Given the description of an element on the screen output the (x, y) to click on. 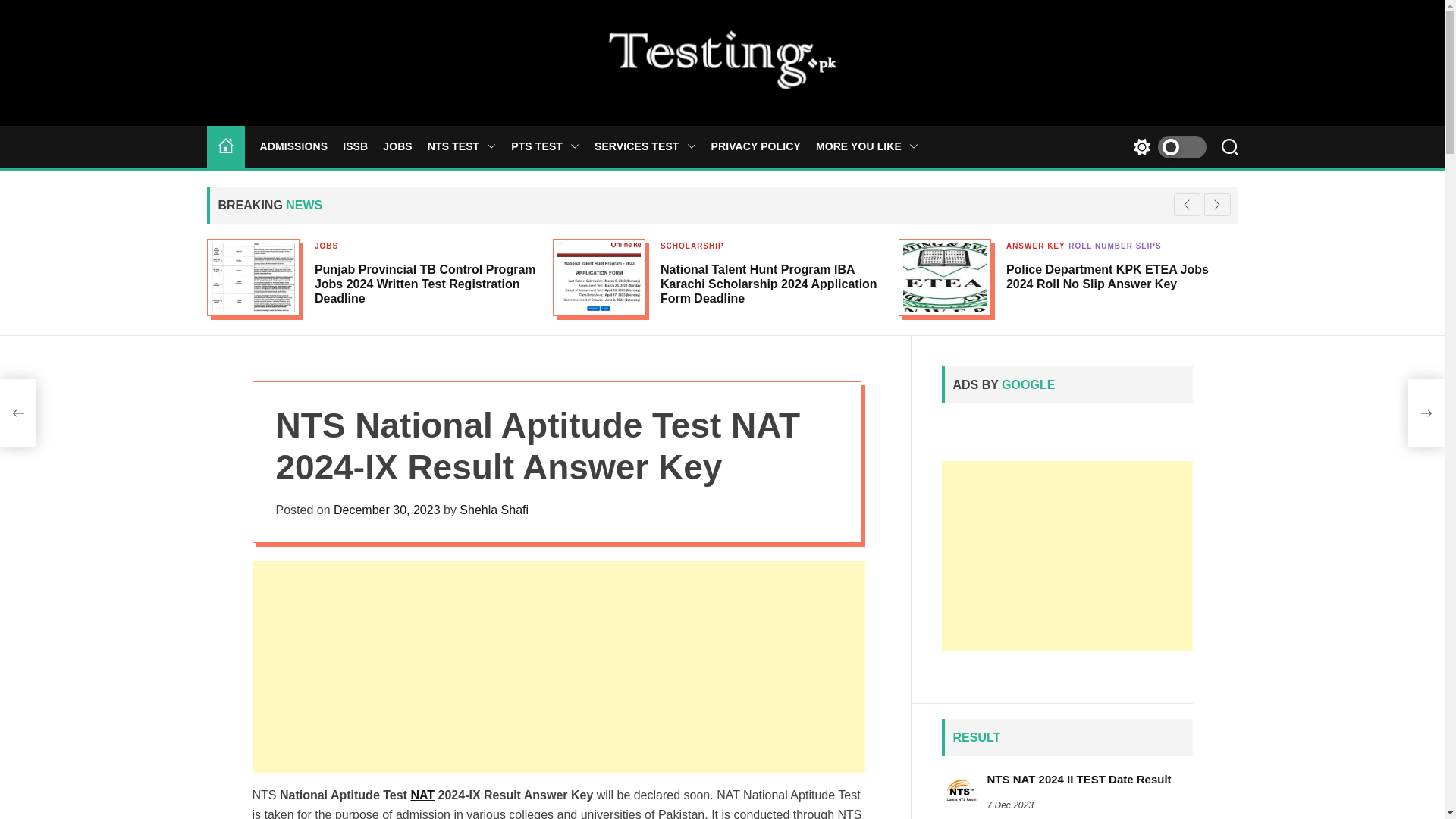
JOBS (397, 146)
ADMISSIONS (293, 146)
ISSB (355, 146)
Search (1229, 146)
MORE YOU LIKE (866, 146)
Switch color mode (1165, 146)
NTS TEST (462, 146)
PRIVACY POLICY (755, 146)
NTS NAT 2024 II TEST Date Result (1079, 779)
PTS TEST (545, 146)
Advertisement (1067, 555)
Home (224, 146)
Advertisement (557, 667)
NAT 2024 V NTS Test Result Answer Key (421, 794)
SERVICES TEST (644, 146)
